Given the description of an element on the screen output the (x, y) to click on. 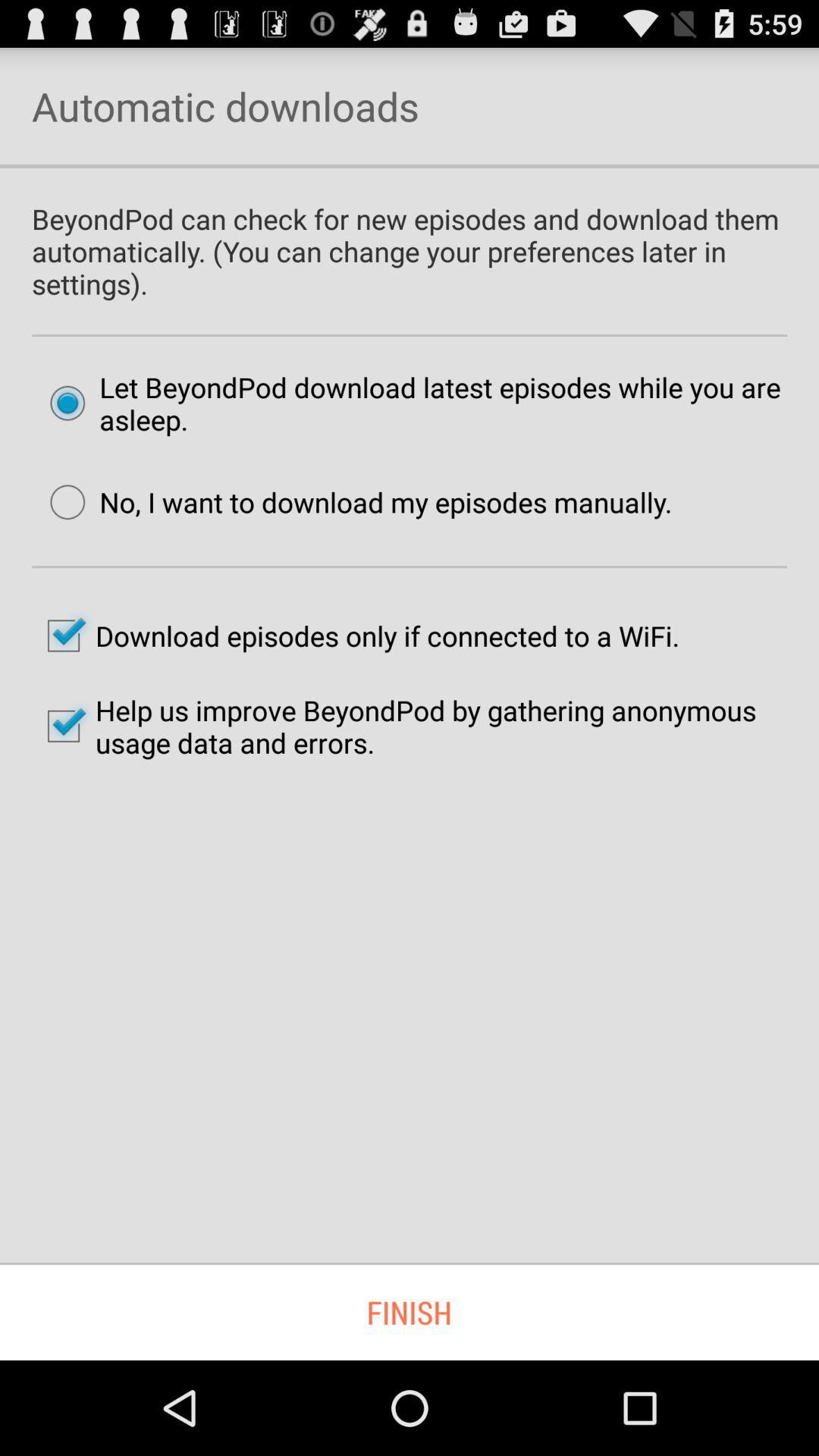
flip until the help us improve (409, 726)
